Given the description of an element on the screen output the (x, y) to click on. 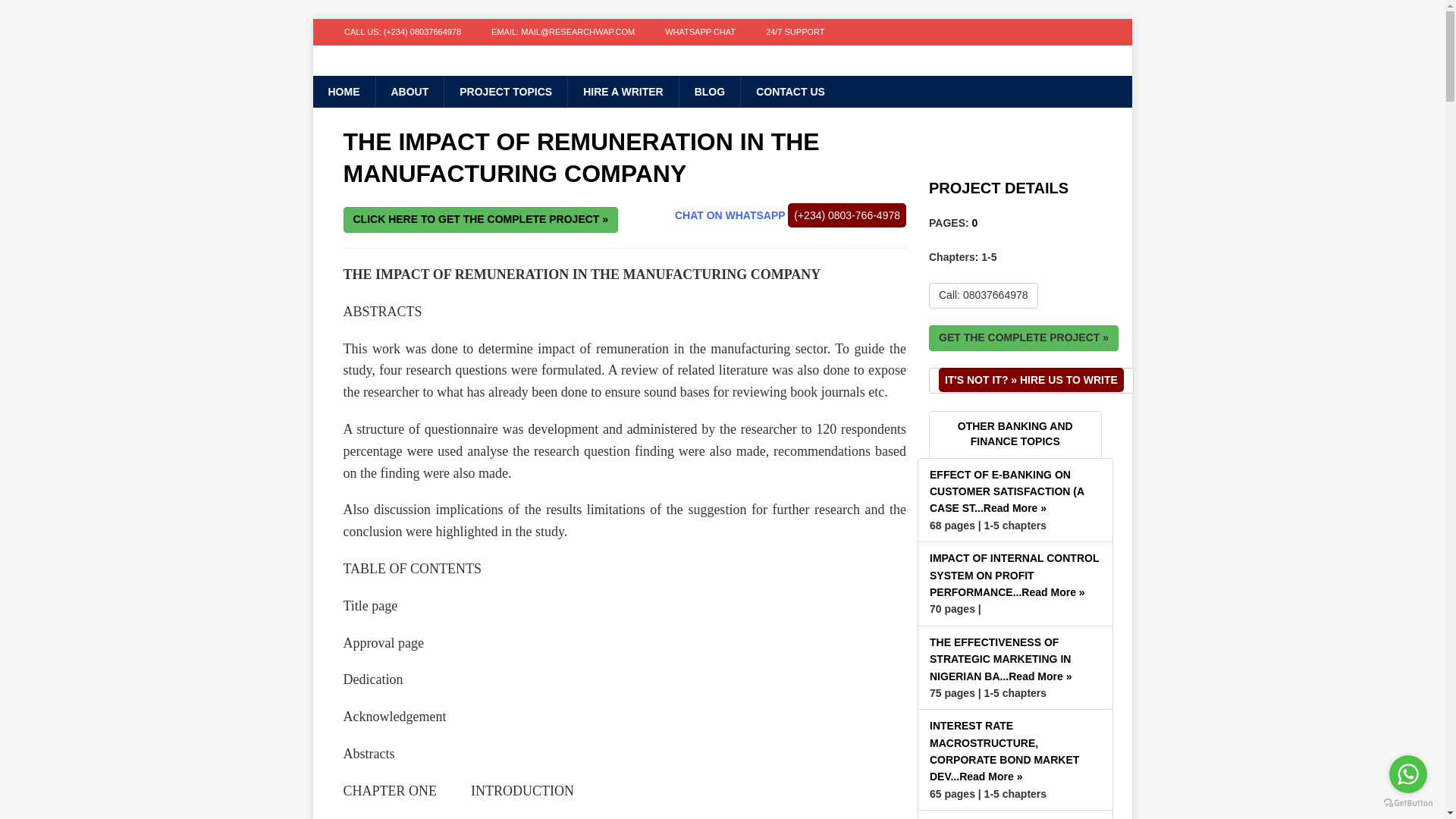
WHATSAPP CHAT (700, 31)
Call: 08037664978 (983, 295)
BLOG (708, 91)
PROJECT TOPICS (505, 91)
THE IMPACT OF REMUNERATION IN THE MANUFACTURING COMPANY (580, 157)
ABOUT (409, 91)
HOME (343, 91)
OTHER BANKING AND FINANCE TOPICS (1015, 434)
HIRE A WRITER (622, 91)
CONTACT US (789, 91)
